Given the description of an element on the screen output the (x, y) to click on. 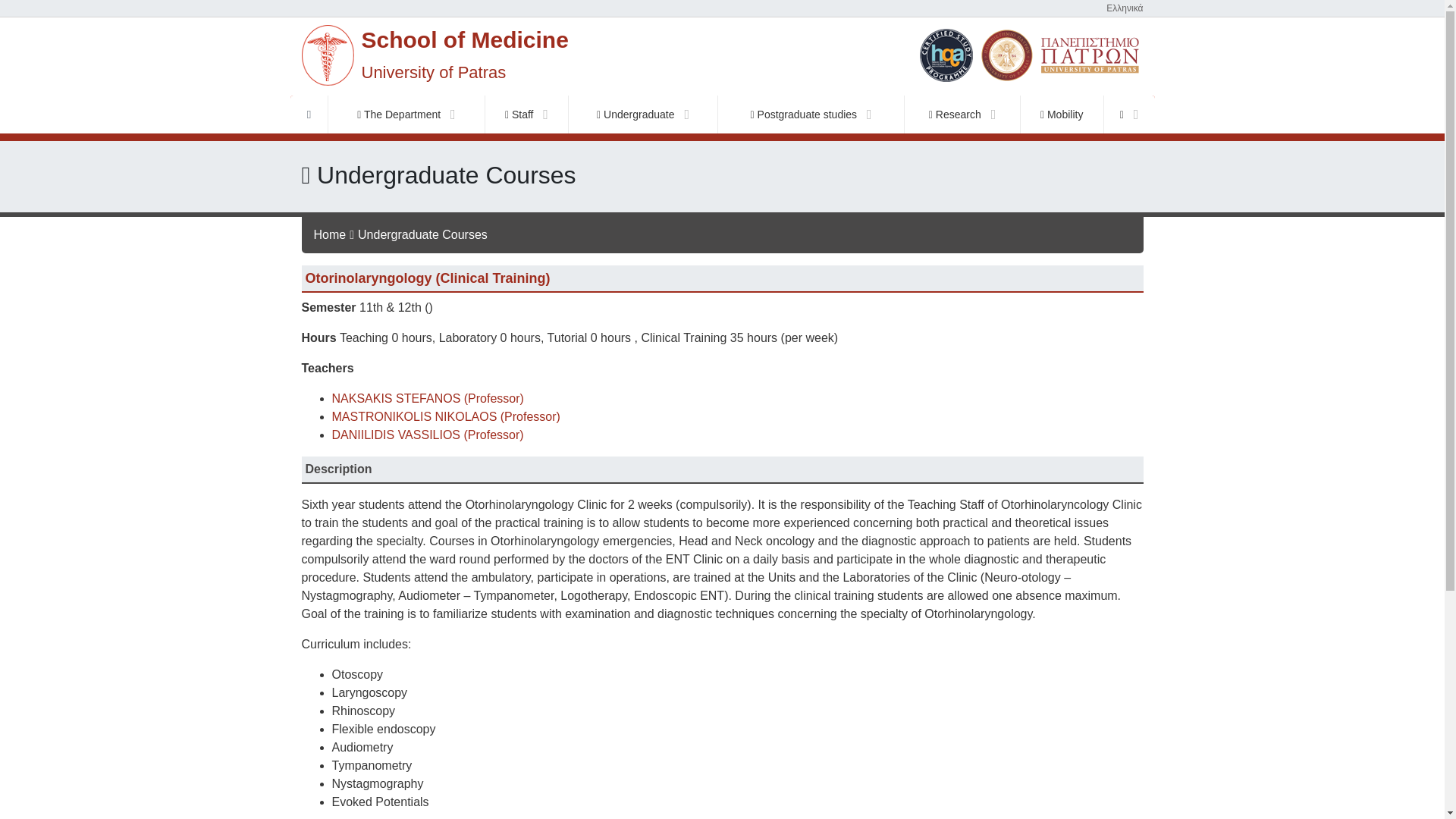
Mobility (1061, 114)
Staff (526, 114)
Undergraduate (643, 114)
Home (330, 234)
Postgraduate studies (811, 114)
The Department (406, 114)
Research (962, 114)
Undergraduate Courses (422, 234)
